Given the description of an element on the screen output the (x, y) to click on. 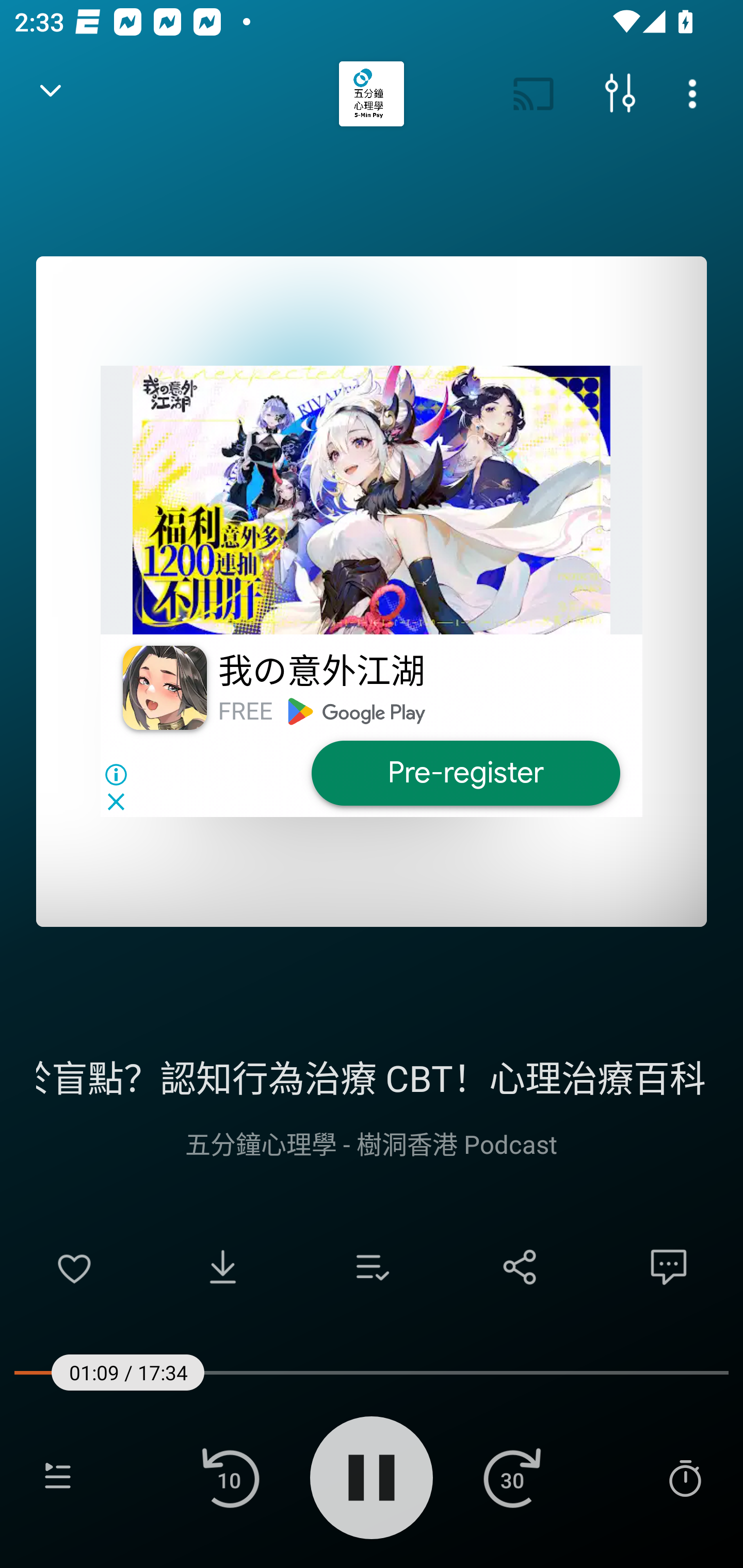
Cast. Disconnected (533, 93)
 Back (50, 94)
我の意外江湖 (321, 672)
FREE (245, 710)
Pre-register (464, 772)
#PSY｜困擾源於盲點？認知行為治療 CBT！心理治療百科（一）｜#五分鐘心理學 (371, 1075)
五分鐘心理學 - 樹洞香港 Podcast (371, 1142)
Comments (668, 1266)
Add to Favorites (73, 1266)
Add to playlist (371, 1266)
Share (519, 1266)
 Playlist (57, 1477)
Sleep Timer  (684, 1477)
